Given the description of an element on the screen output the (x, y) to click on. 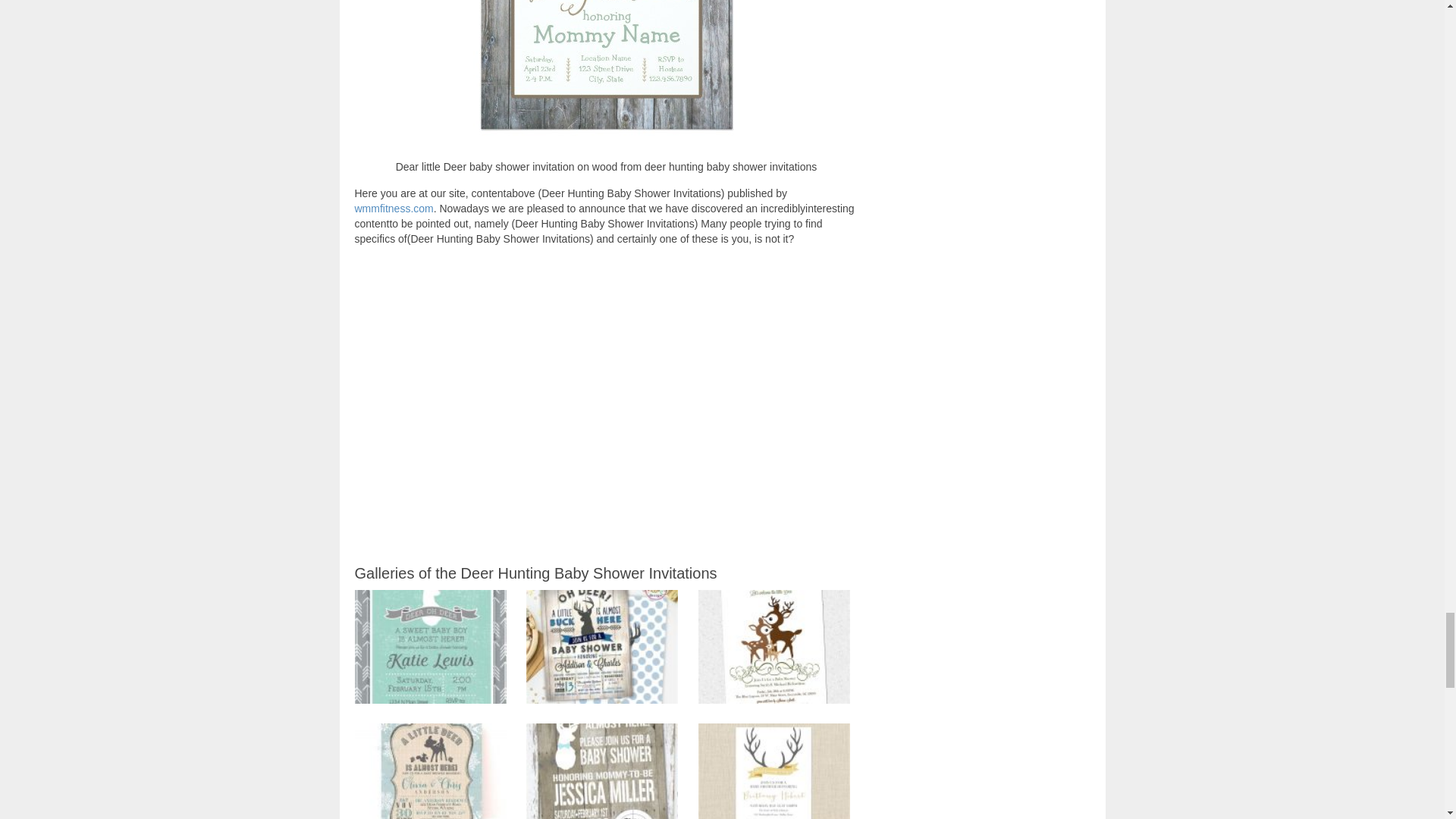
Dear little Deer baby shower invitation on wood (606, 74)
wmmfitness.com (394, 208)
